Given the description of an element on the screen output the (x, y) to click on. 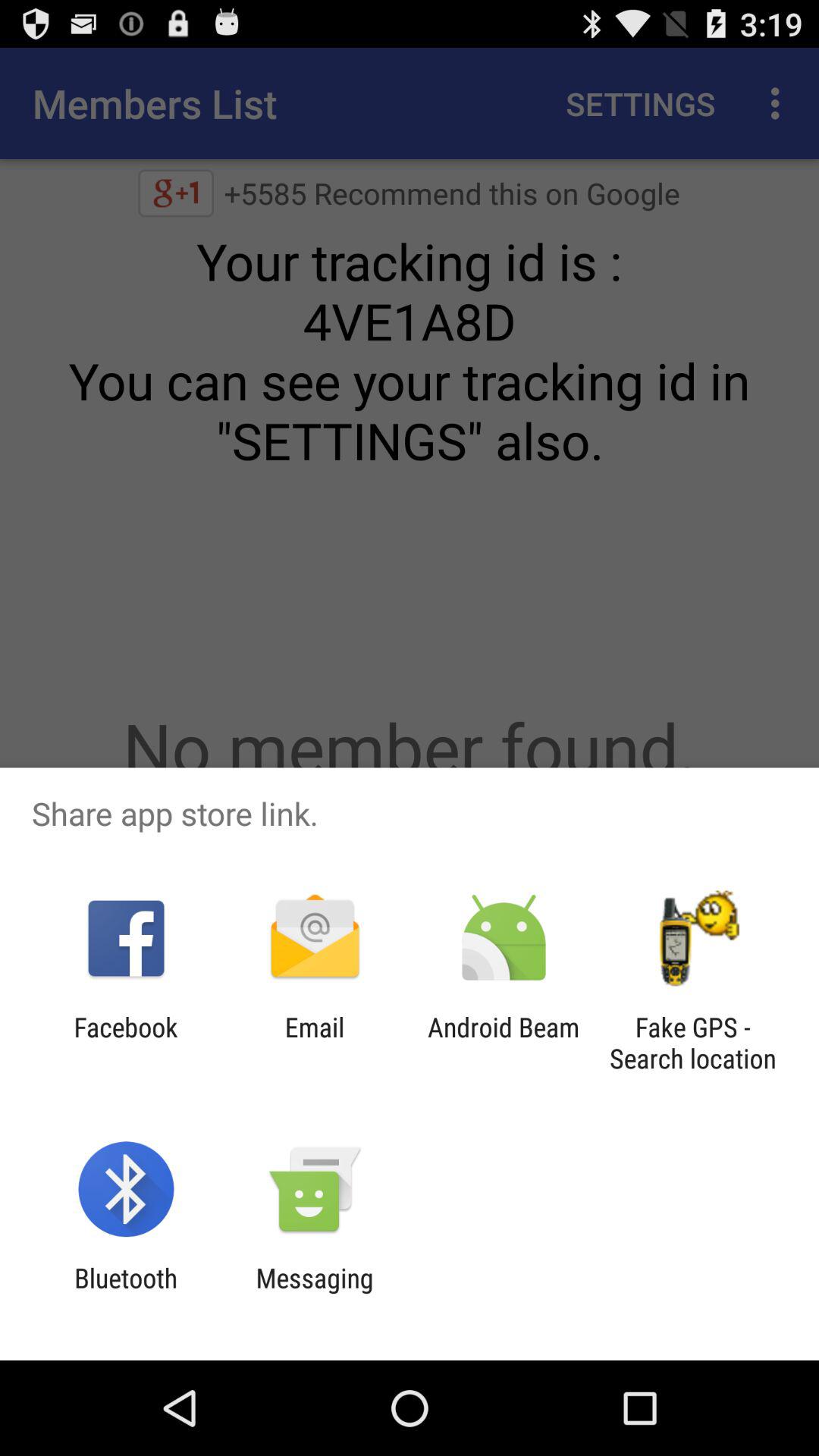
click the app to the left of the android beam (314, 1042)
